Given the description of an element on the screen output the (x, y) to click on. 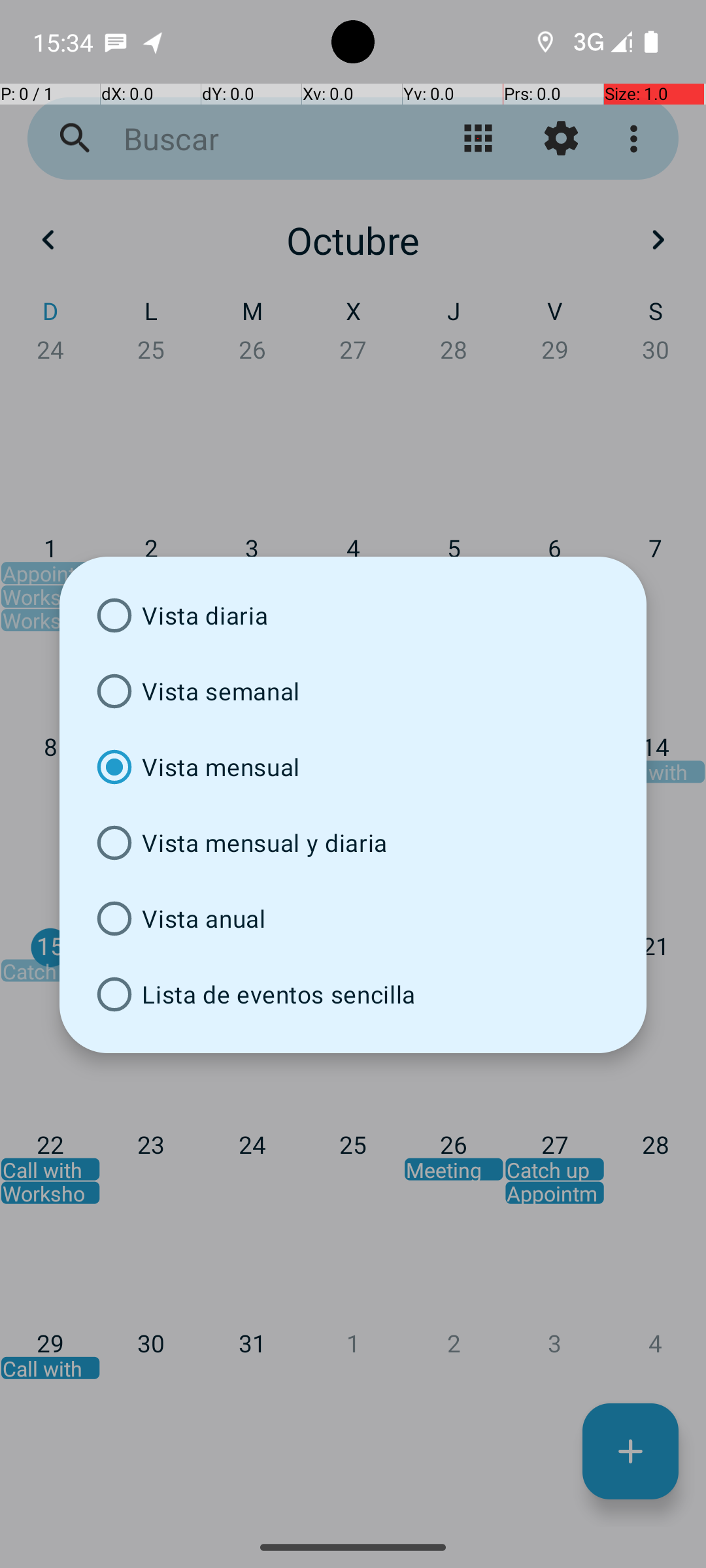
Vista diaria Element type: android.widget.RadioButton (352, 615)
Vista semanal Element type: android.widget.RadioButton (352, 691)
Vista mensual Element type: android.widget.RadioButton (352, 766)
Vista mensual y diaria Element type: android.widget.RadioButton (352, 842)
Vista anual Element type: android.widget.RadioButton (352, 918)
Lista de eventos sencilla Element type: android.widget.RadioButton (352, 994)
